Given the description of an element on the screen output the (x, y) to click on. 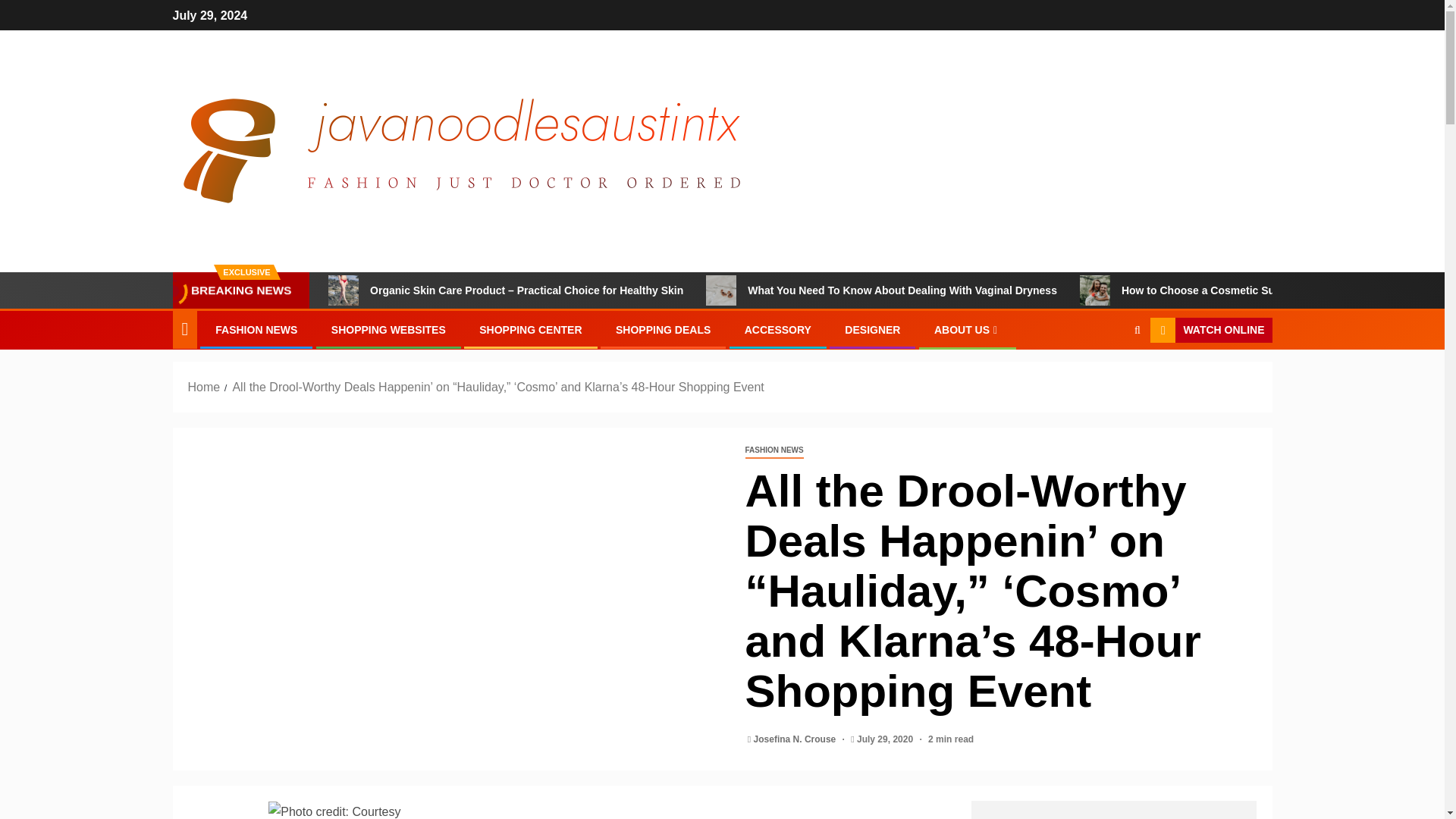
ABOUT US (967, 329)
FASHION NEWS (773, 450)
ACCESSORY (777, 329)
Search (1107, 376)
SHOPPING CENTER (529, 329)
Josefina N. Crouse (796, 738)
DESIGNER (871, 329)
How to Choose a Cosmetic Surgeon (1094, 290)
What You Need To Know About Dealing With Vaginal Dryness (721, 290)
SHOPPING DEALS (662, 329)
FASHION NEWS (256, 329)
SHOPPING WEBSITES (388, 329)
What You Need To Know About Dealing With Vaginal Dryness (881, 290)
How to Choose a Cosmetic Surgeon (1192, 290)
WATCH ONLINE (1210, 330)
